Given the description of an element on the screen output the (x, y) to click on. 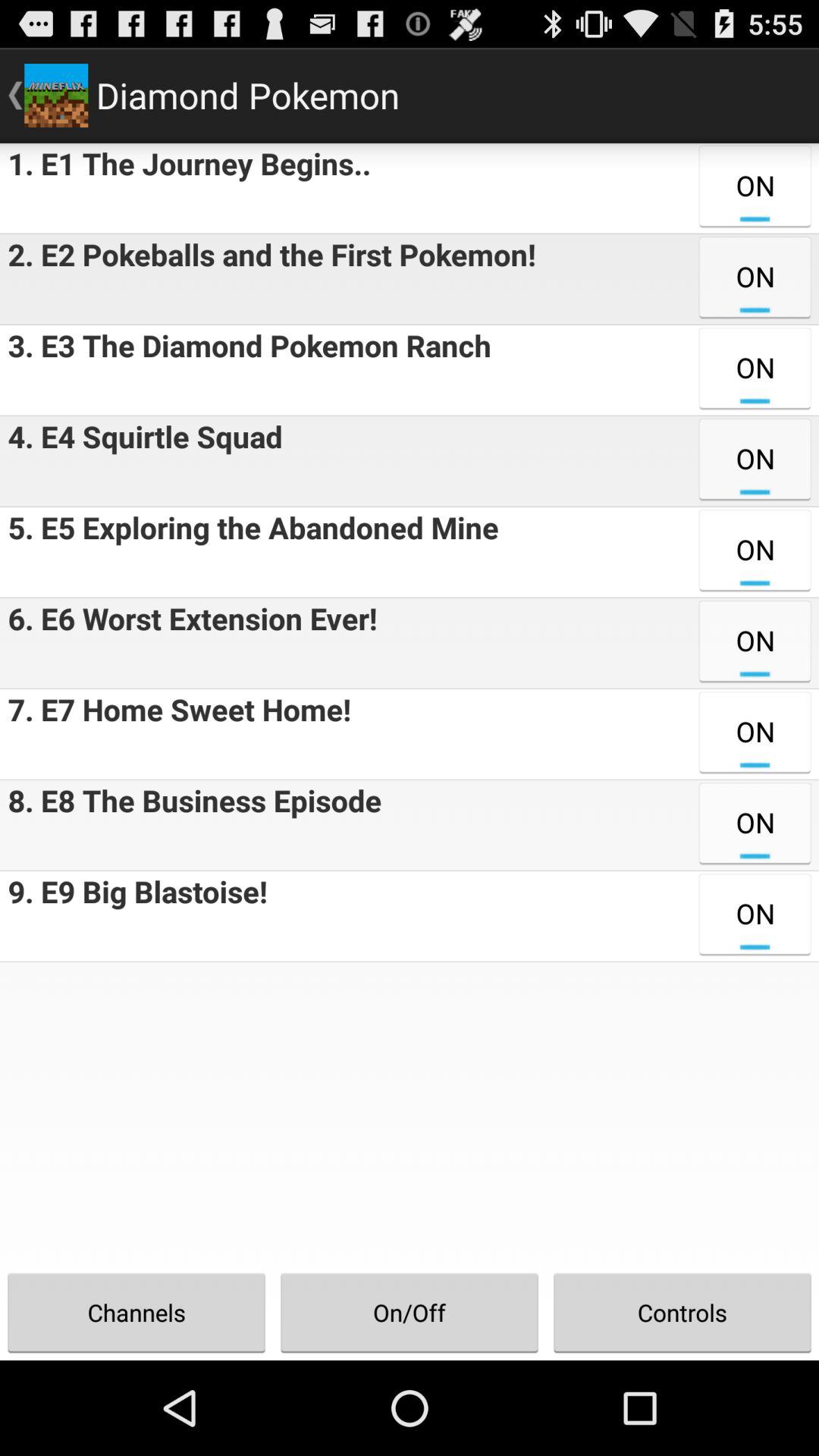
turn off the icon above 9 e9 big item (190, 825)
